Given the description of an element on the screen output the (x, y) to click on. 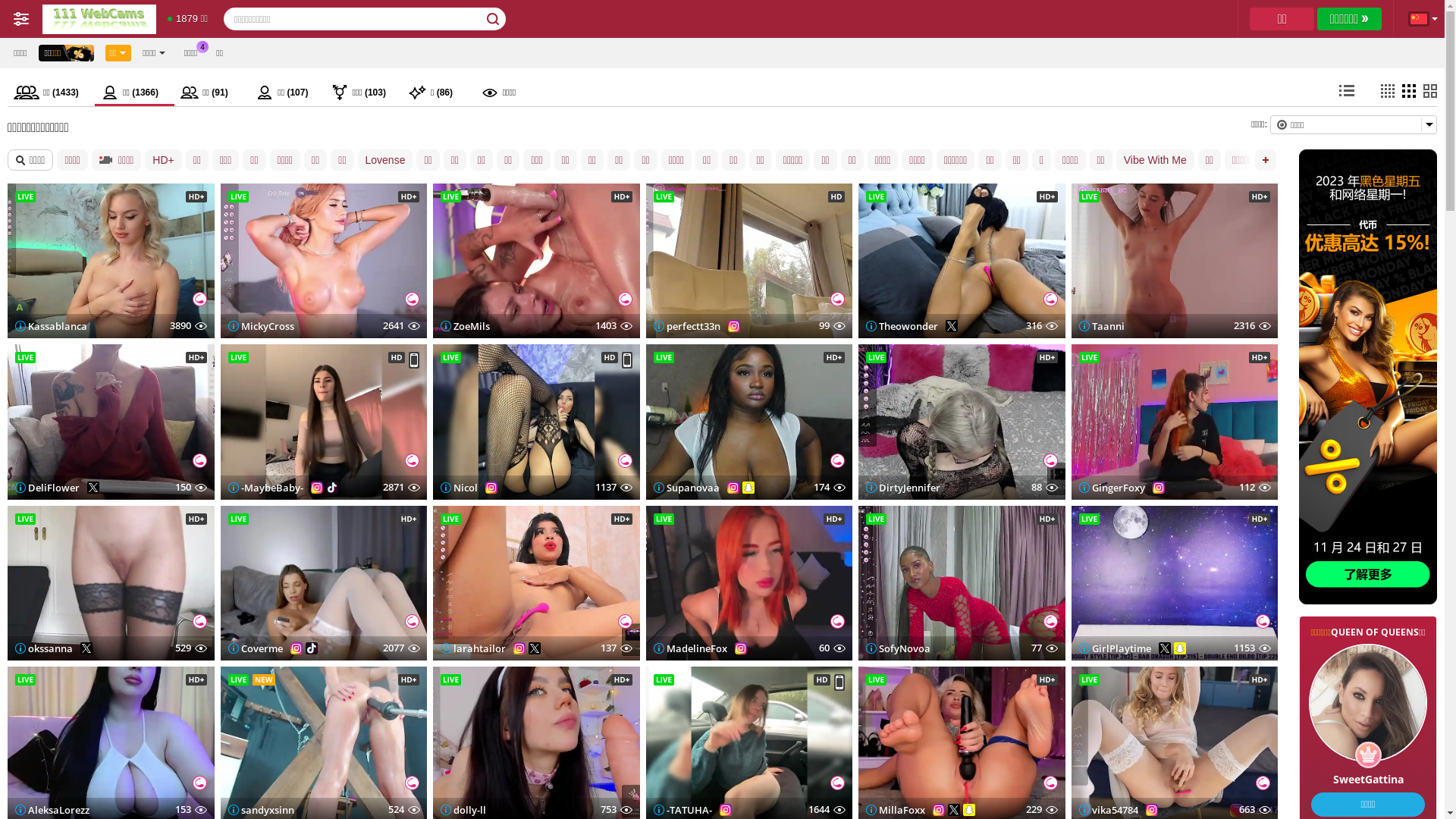
AleksaLorezz Element type: text (52, 808)
Taanni Element type: text (1100, 325)
Coverme Element type: text (254, 648)
GingerFoxy Element type: text (1111, 487)
sandyxsinn Element type: text (260, 808)
DeliFlower Element type: text (47, 487)
larahtailor Element type: text (472, 648)
dolly-ll Element type: text (463, 808)
perfectt33n Element type: text (686, 325)
vika54784 Element type: text (1107, 808)
GirlPlaytime Element type: text (1114, 648)
HD+ Element type: text (162, 159)
DirtyJennifer Element type: text (903, 487)
Vibe With Me Element type: text (1155, 159)
MickyCross Element type: text (260, 325)
Supanovaa Element type: text (686, 487)
MadelineFox Element type: text (690, 648)
SofyNovoa Element type: text (898, 648)
Lovense Element type: text (385, 159)
SweetGattina Element type: text (1367, 714)
Nicol Element type: text (458, 487)
Theowonder Element type: text (902, 325)
Kassablanca Element type: text (51, 325)
MillaFoxx Element type: text (895, 808)
ZoeMils Element type: text (464, 325)
-MaybeBaby- Element type: text (264, 487)
okssanna Element type: text (43, 648)
-TATUHA- Element type: text (682, 808)
